Given the description of an element on the screen output the (x, y) to click on. 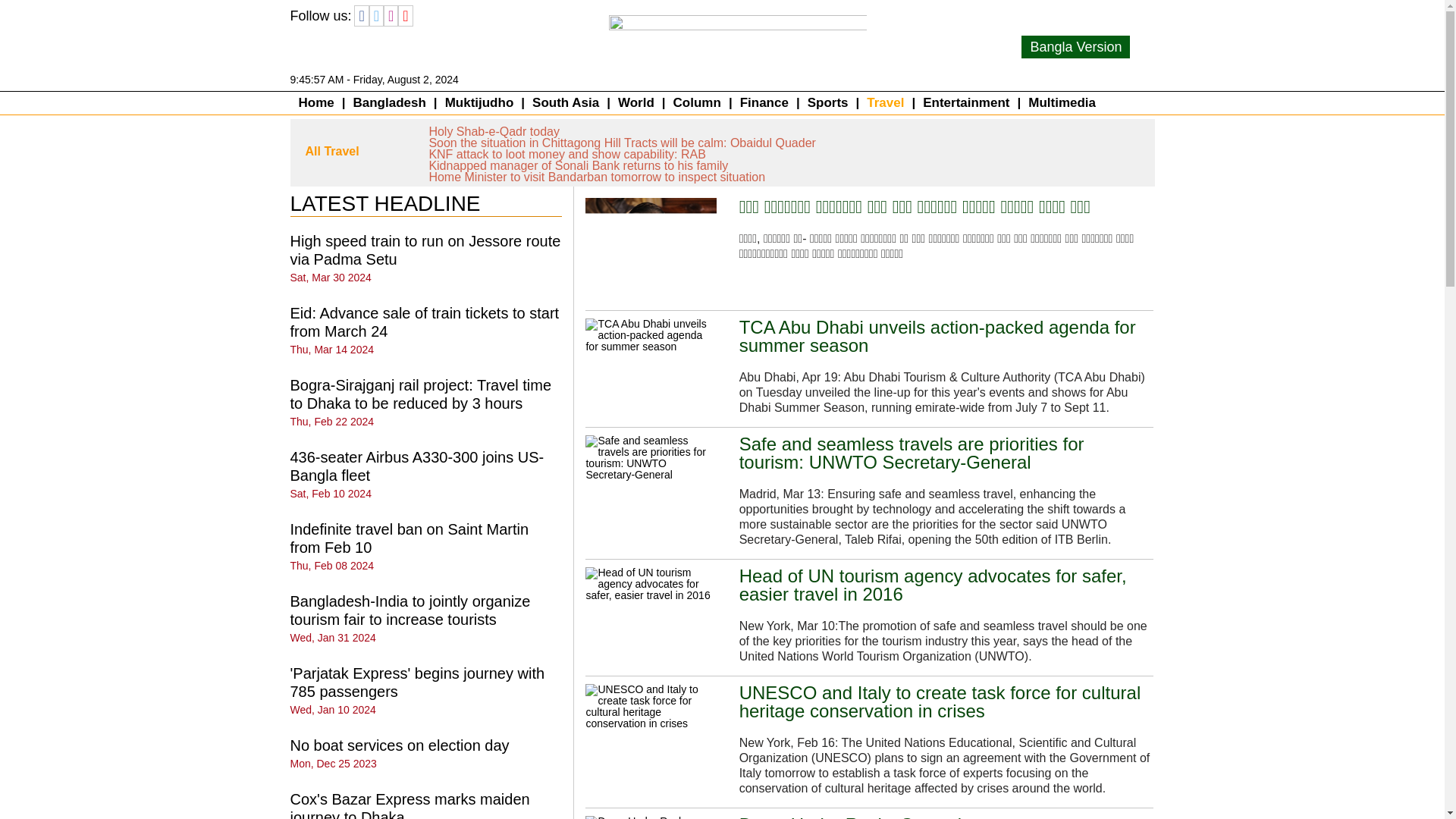
World (636, 102)
High speed train to run on Jessore route via Padma Setu (424, 249)
Indefinite travel ban on Saint Martin from Feb 10 (408, 538)
Finance (764, 102)
Muktijudho (479, 102)
436-seater Airbus A330-300 joins US-Bangla fleet (416, 466)
Column (697, 102)
Home (316, 102)
